Given the description of an element on the screen output the (x, y) to click on. 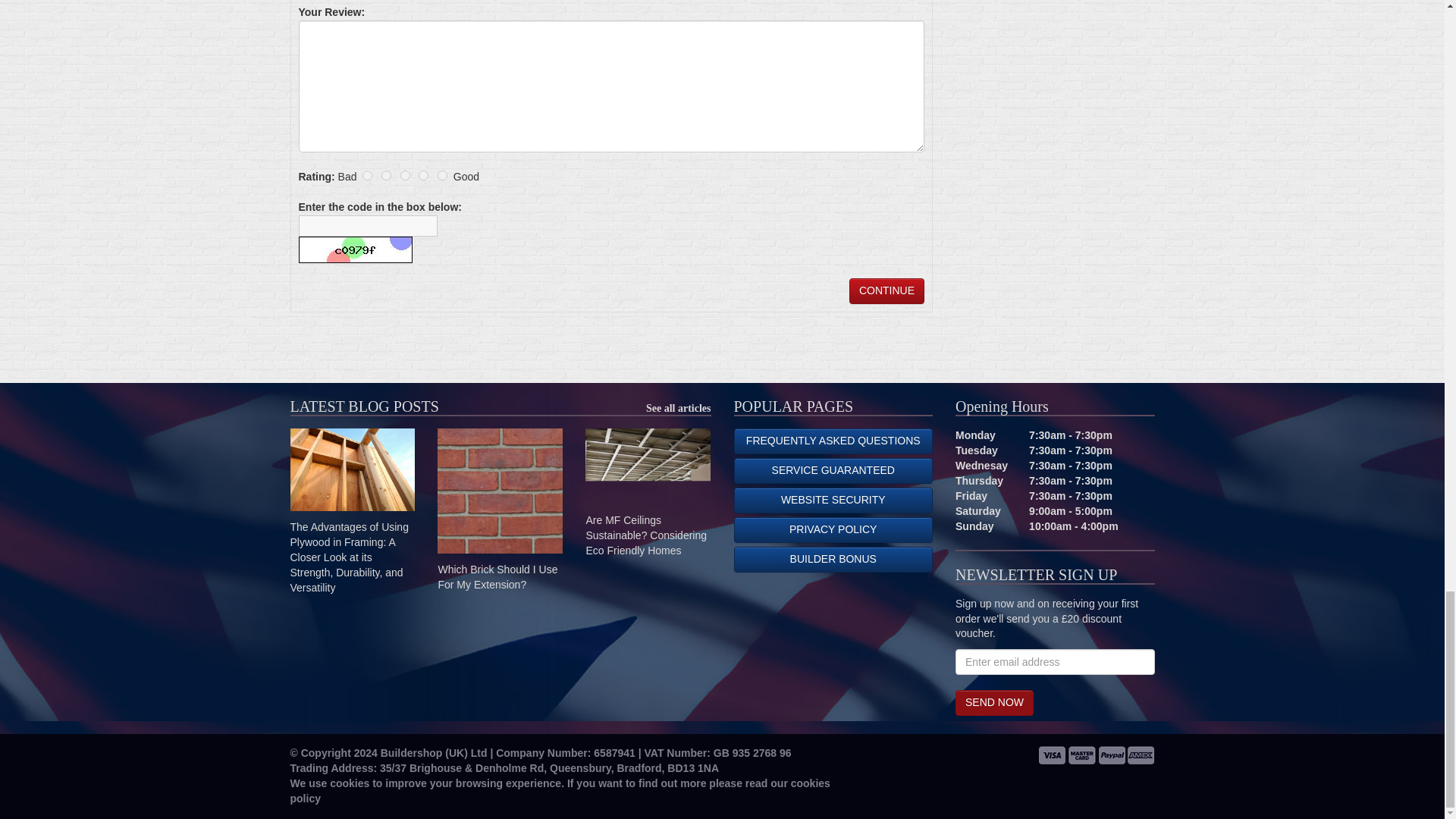
2 (386, 175)
1 (367, 175)
5 (442, 175)
4 (423, 175)
3 (405, 175)
